Given the description of an element on the screen output the (x, y) to click on. 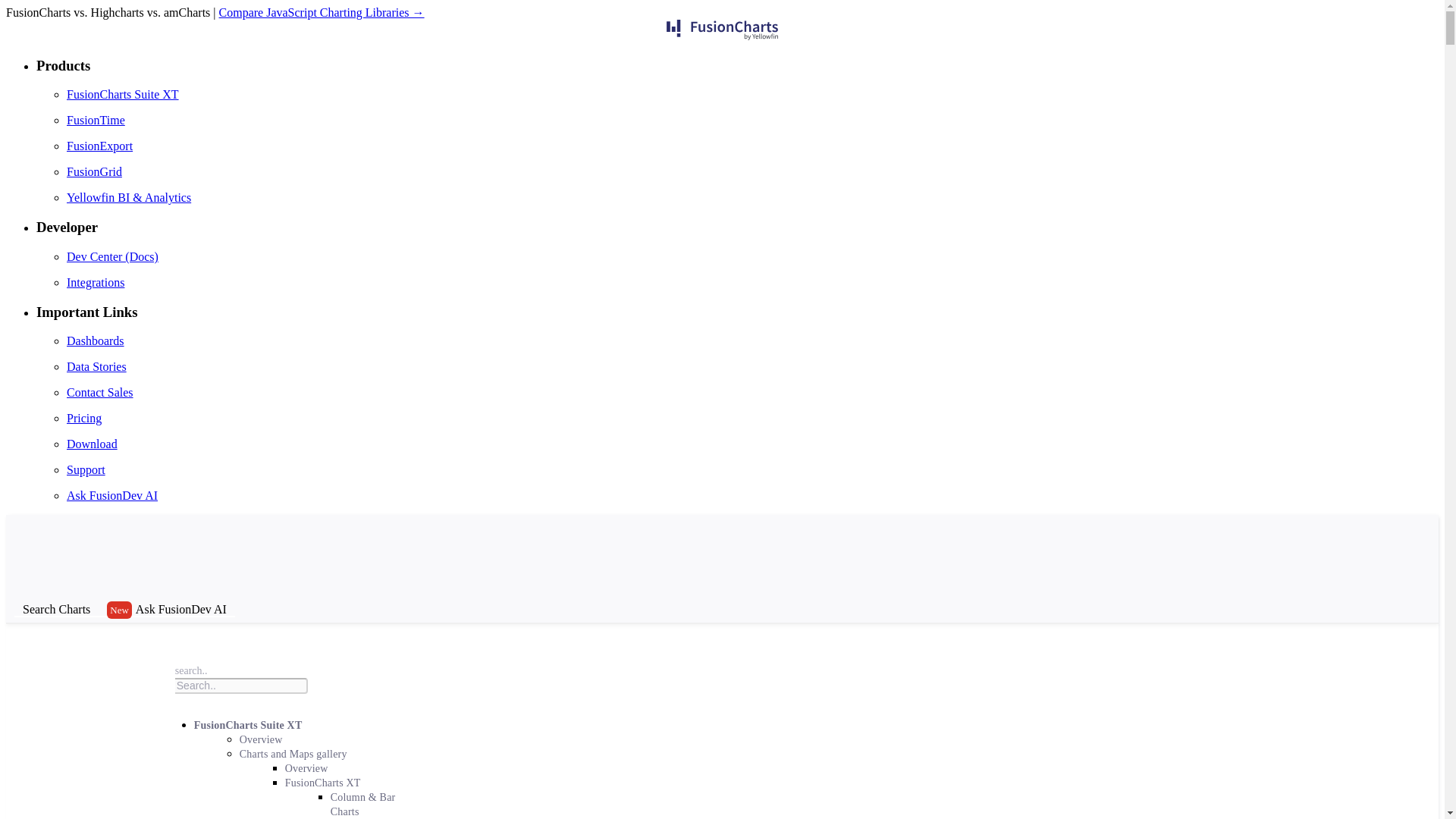
FusionCharts XT (330, 782)
Overview (314, 768)
Overview (269, 739)
FusionCharts Suite XT (255, 725)
Charts and Maps gallery (301, 753)
